Given the description of an element on the screen output the (x, y) to click on. 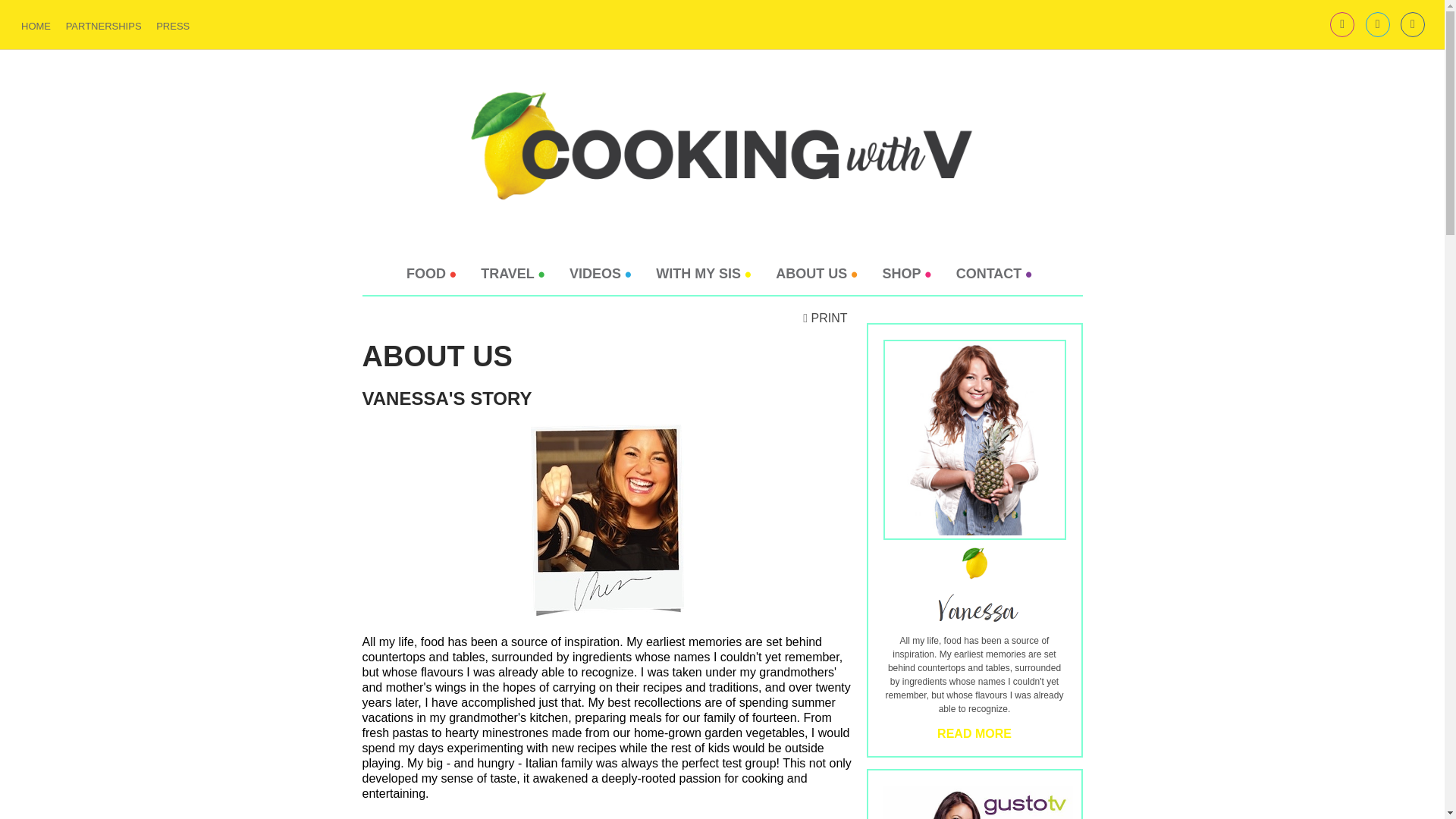
PRESS (172, 25)
WITH MY SIS (702, 273)
FOOD (431, 273)
VIDEOS (600, 273)
PRINT (824, 318)
SHOP (907, 273)
PARTNERSHIPS (103, 25)
TRAVEL (512, 273)
ABOUT US (816, 273)
Twitter (1377, 24)
